Given the description of an element on the screen output the (x, y) to click on. 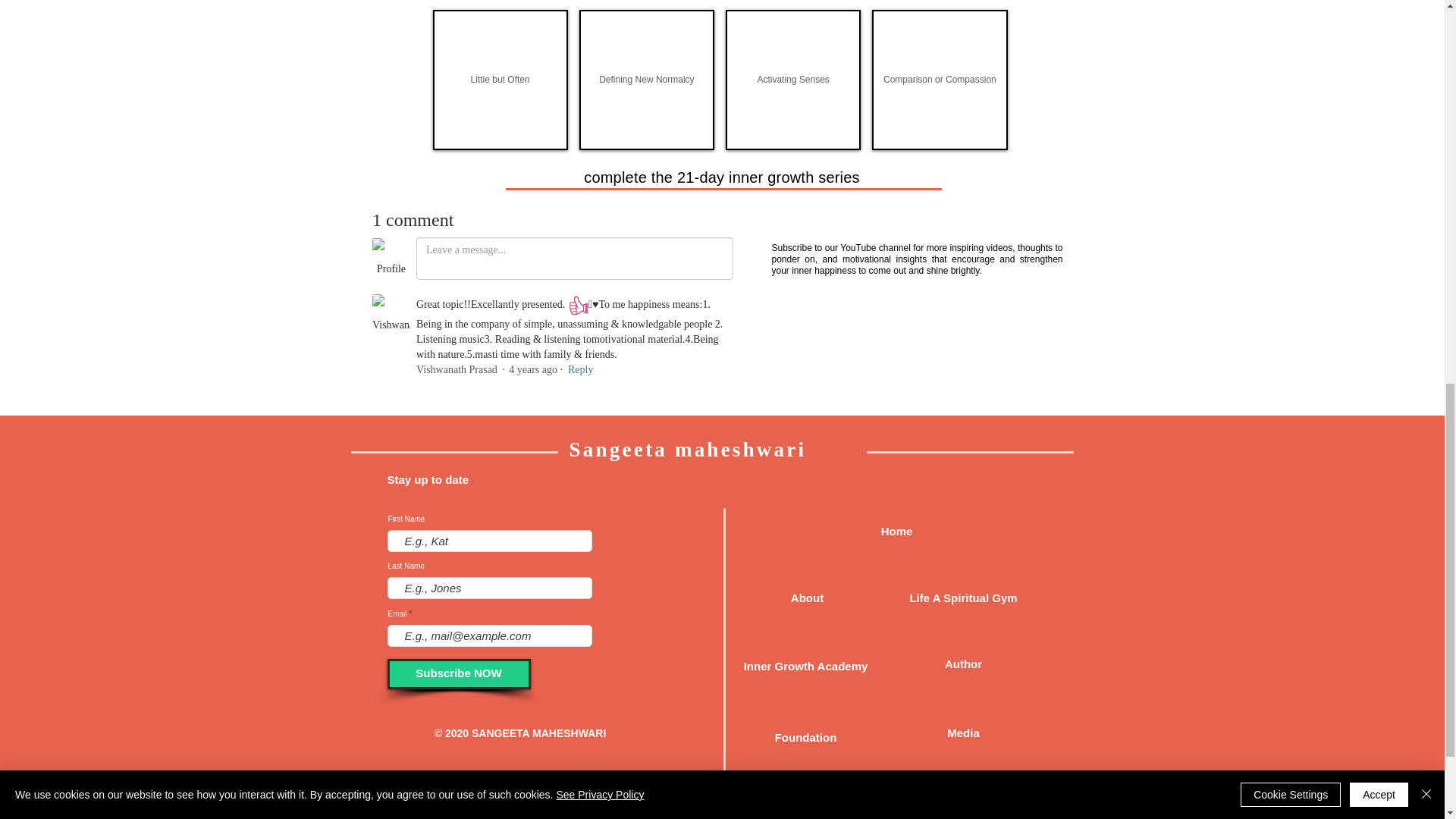
Defining New Normalcy (646, 79)
Little but Often (499, 79)
Activating Senses (792, 79)
Comments (551, 306)
